Given the description of an element on the screen output the (x, y) to click on. 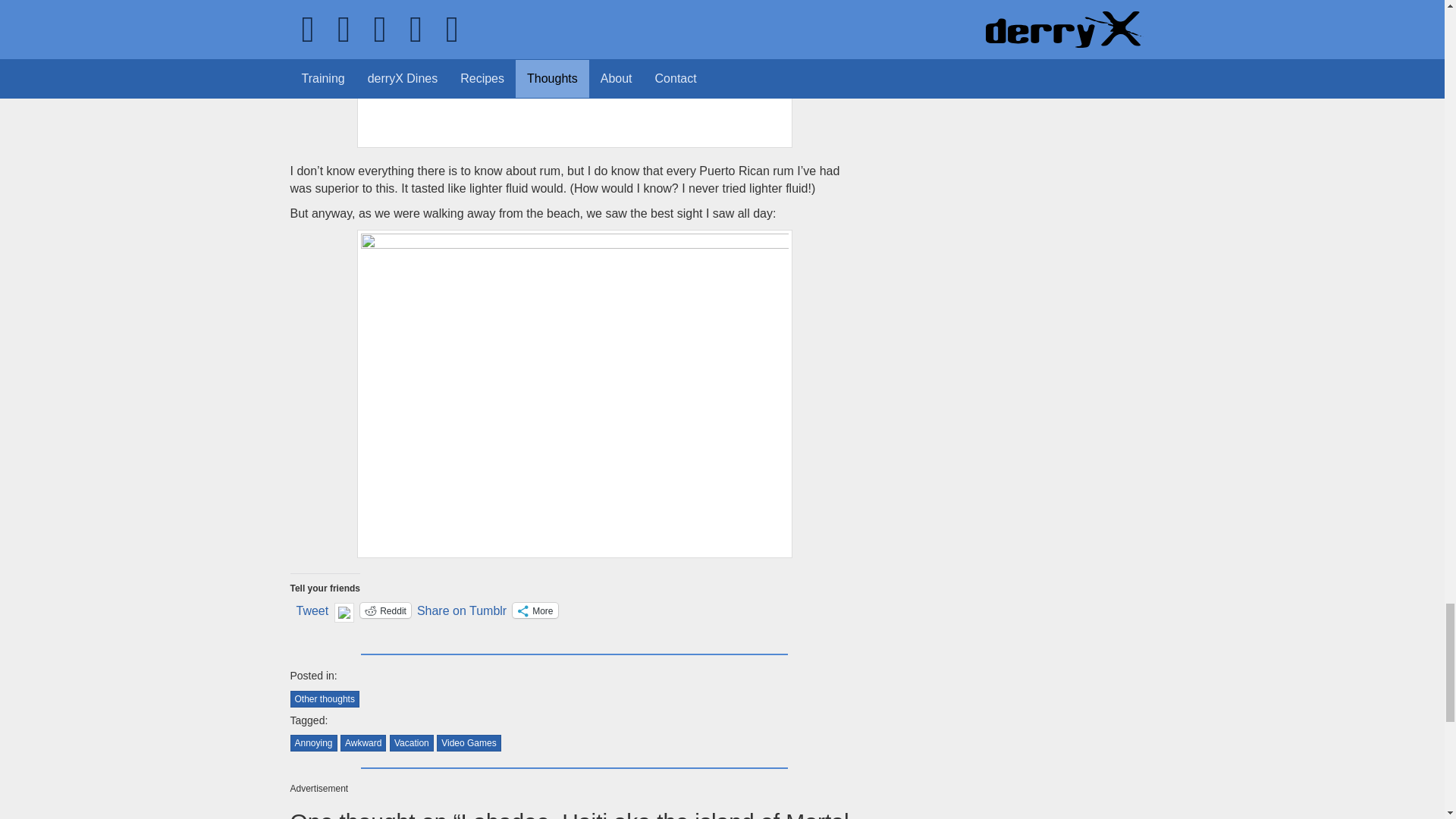
Tweet (312, 609)
Other thoughts (323, 699)
Awkward (362, 742)
Reddit (384, 610)
More (534, 610)
Share on Tumblr (461, 609)
Annoying (312, 742)
